Given the description of an element on the screen output the (x, y) to click on. 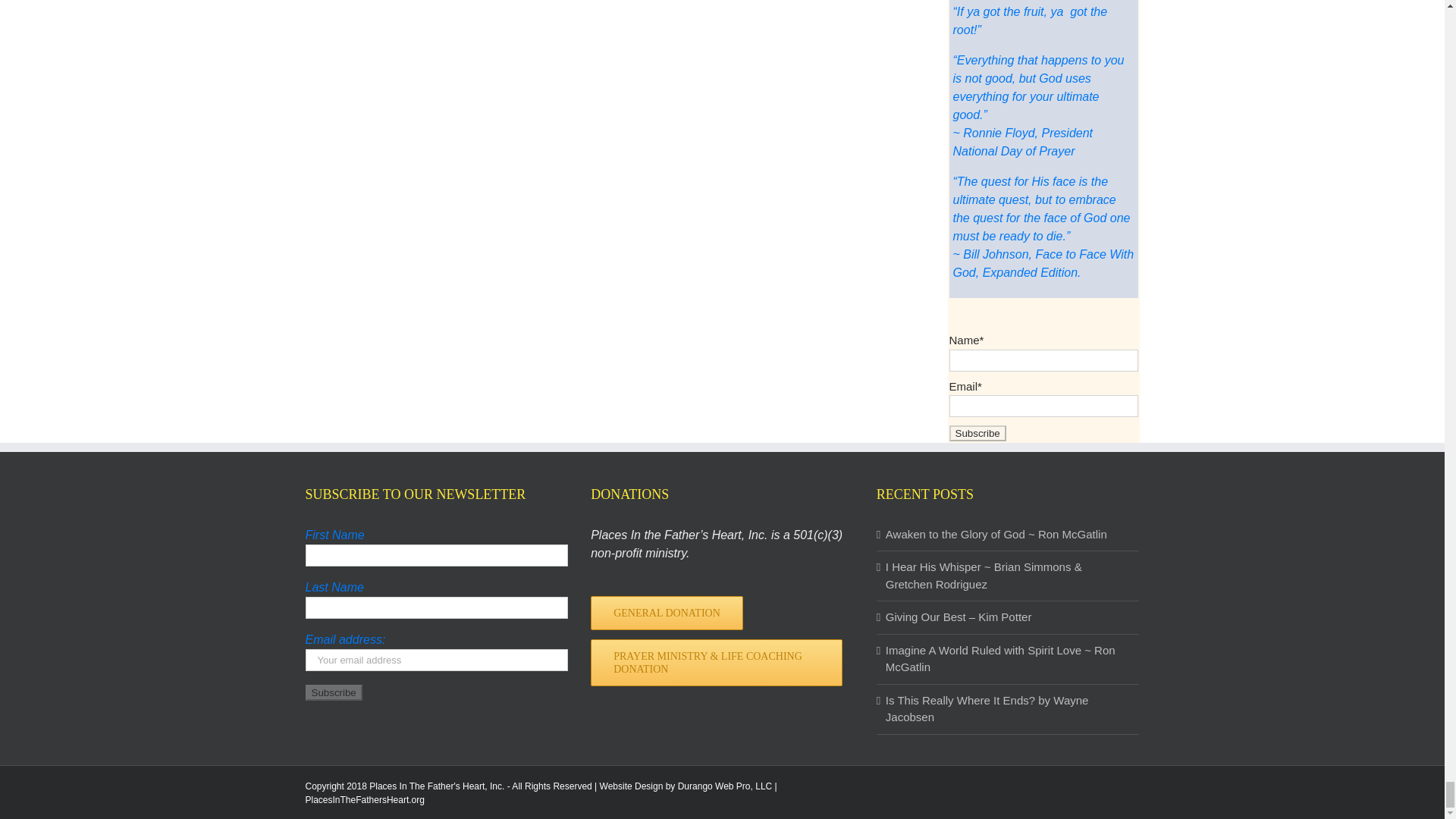
Subscribe (977, 433)
Subscribe (977, 433)
Subscribe (332, 692)
Subscribe (332, 692)
